Given the description of an element on the screen output the (x, y) to click on. 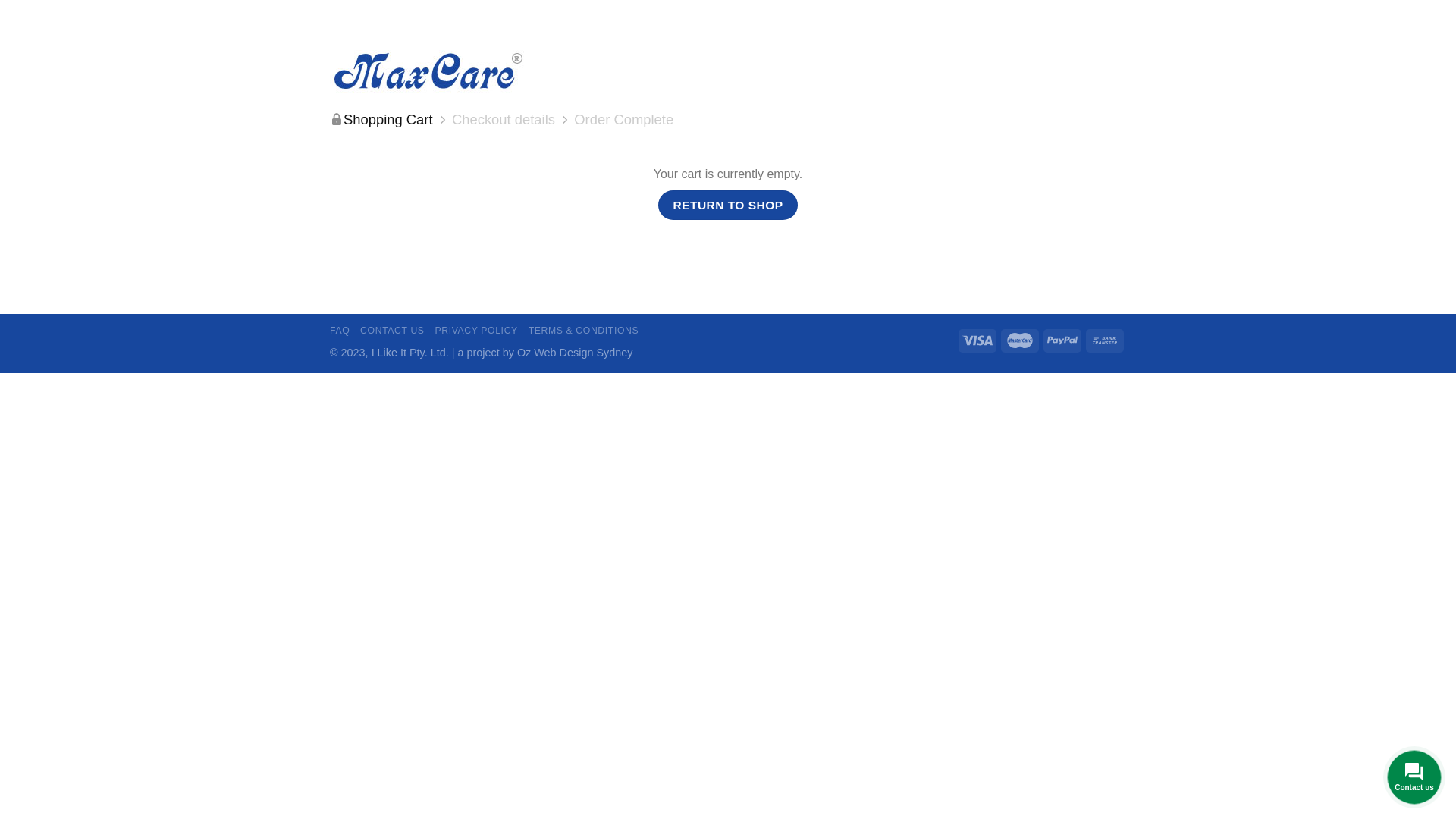
Oz Web Design Sydney Element type: text (575, 352)
Order Complete Element type: text (623, 119)
RETURN TO SHOP Element type: text (727, 204)
TERMS & CONDITIONS Element type: text (583, 330)
Shopping Cart Element type: text (388, 119)
I Like It Pty. Ltd. Element type: text (409, 352)
PRIVACY POLICY Element type: text (475, 330)
FAQ Element type: text (339, 330)
MaxCare - Toilet Seat Covers Element type: hover (443, 70)
Checkout details Element type: text (503, 119)
CONTACT US Element type: text (392, 330)
